Given the description of an element on the screen output the (x, y) to click on. 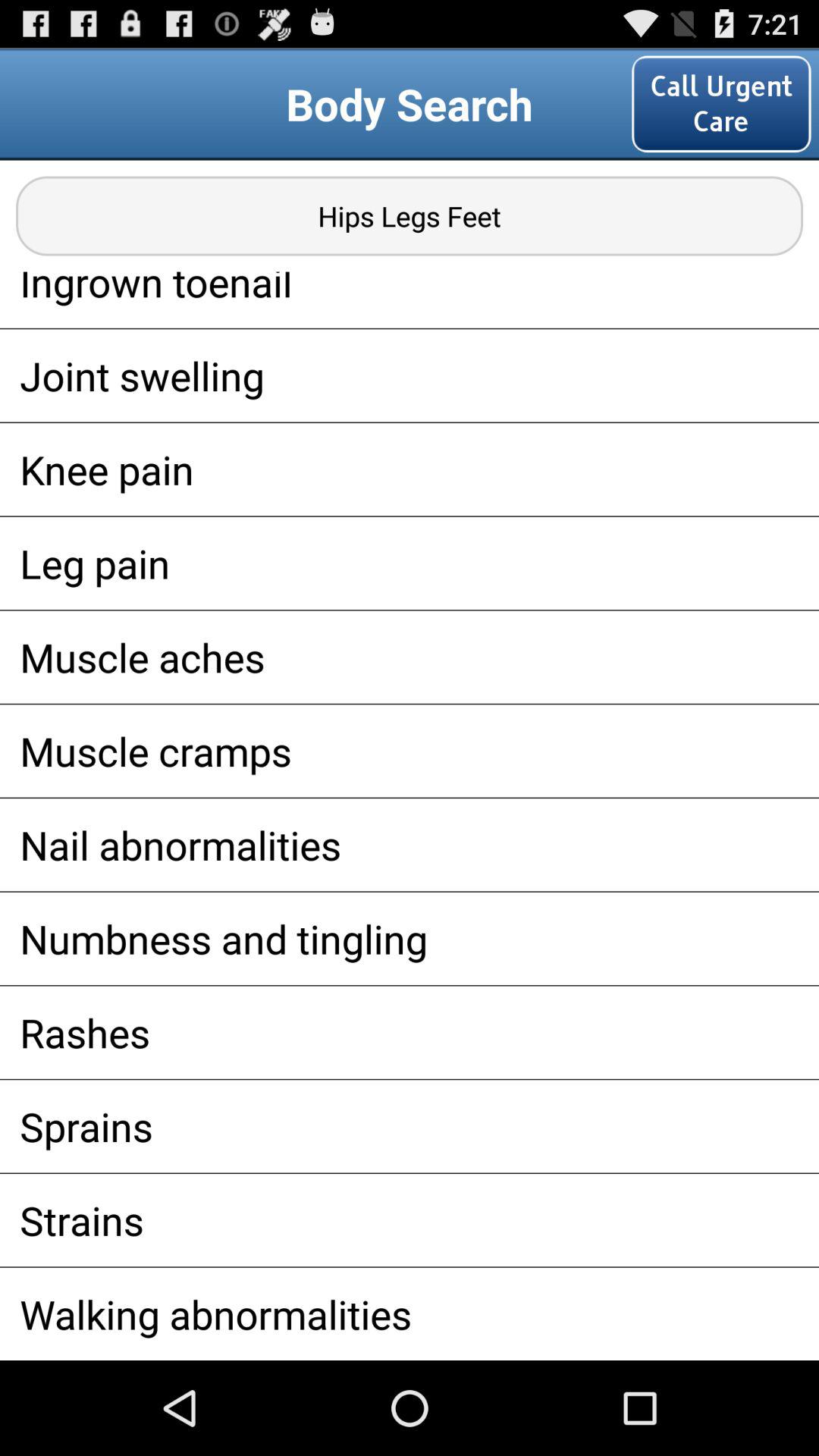
select item below numbness and tingling app (409, 1032)
